Given the description of an element on the screen output the (x, y) to click on. 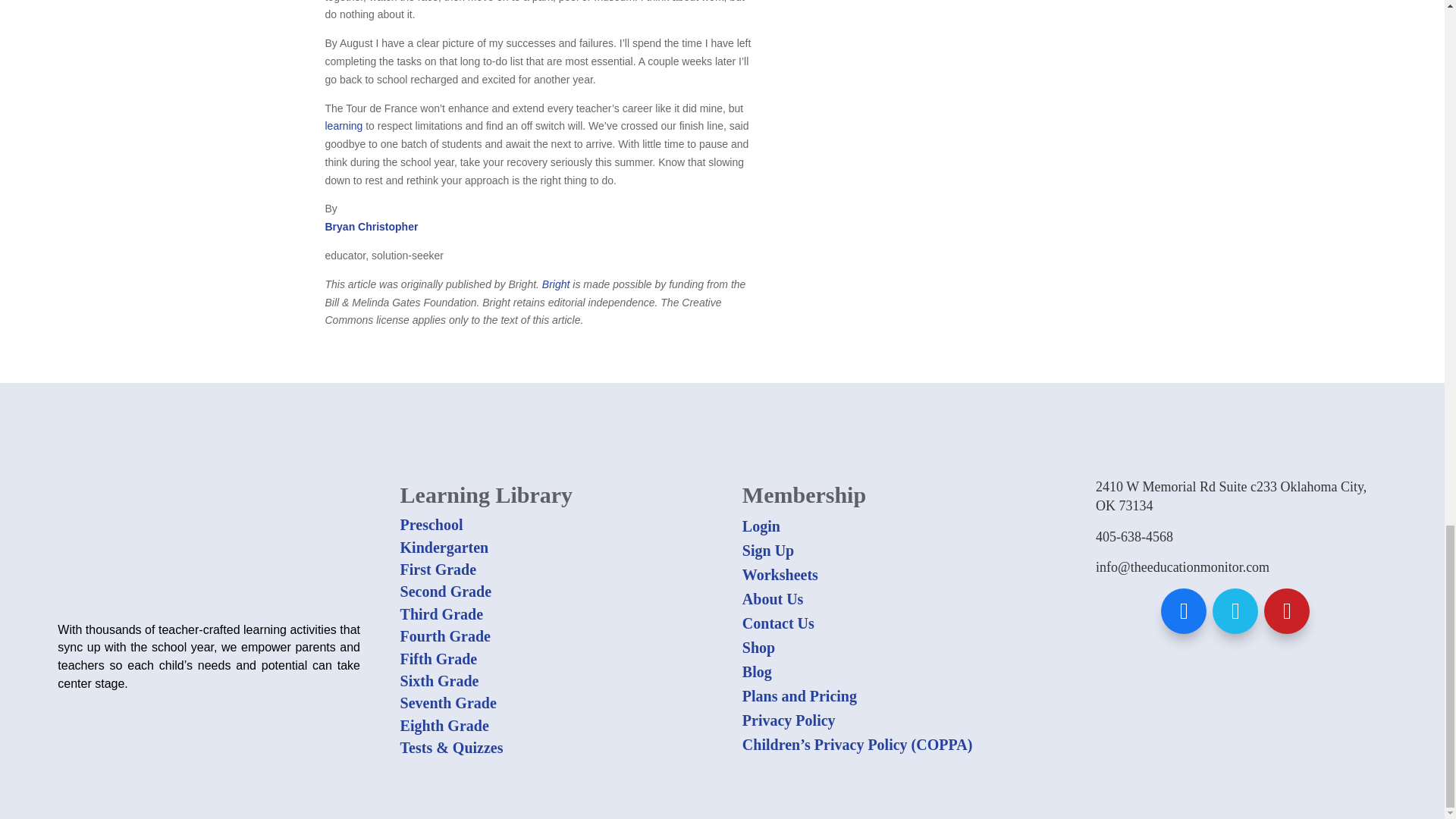
Second Grade (446, 591)
Bright (553, 284)
learning (343, 125)
Preschool (431, 524)
Sixth Grade (439, 680)
First Grade (438, 569)
Follow on Facebook (1183, 610)
Follow on Pinterest (1285, 610)
Seventh Grade (448, 702)
Kindergarten (444, 547)
edumonitor (209, 581)
Third Grade (441, 614)
Follow on X (1234, 610)
Fifth Grade (438, 658)
Fourth Grade (445, 636)
